Given the description of an element on the screen output the (x, y) to click on. 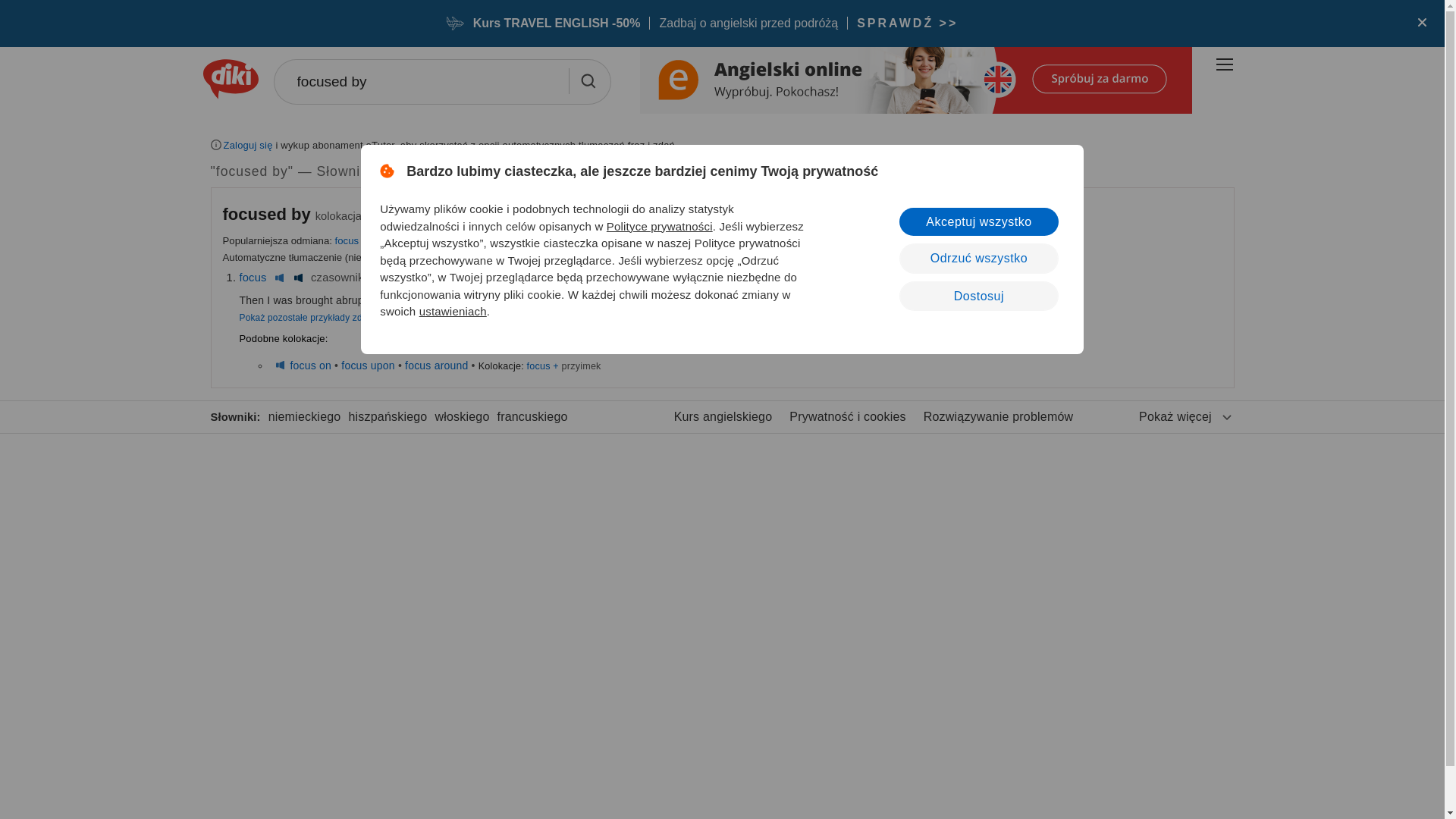
British English (400, 277)
focused by (441, 81)
focus on (310, 365)
Uwaga: kolokacja wygenerowana automatycznie. (268, 213)
ustawieniach (452, 310)
focus by (353, 240)
Akceptuj wszystko (978, 221)
British English (279, 365)
focus upon (367, 365)
American English (297, 277)
